Given the description of an element on the screen output the (x, y) to click on. 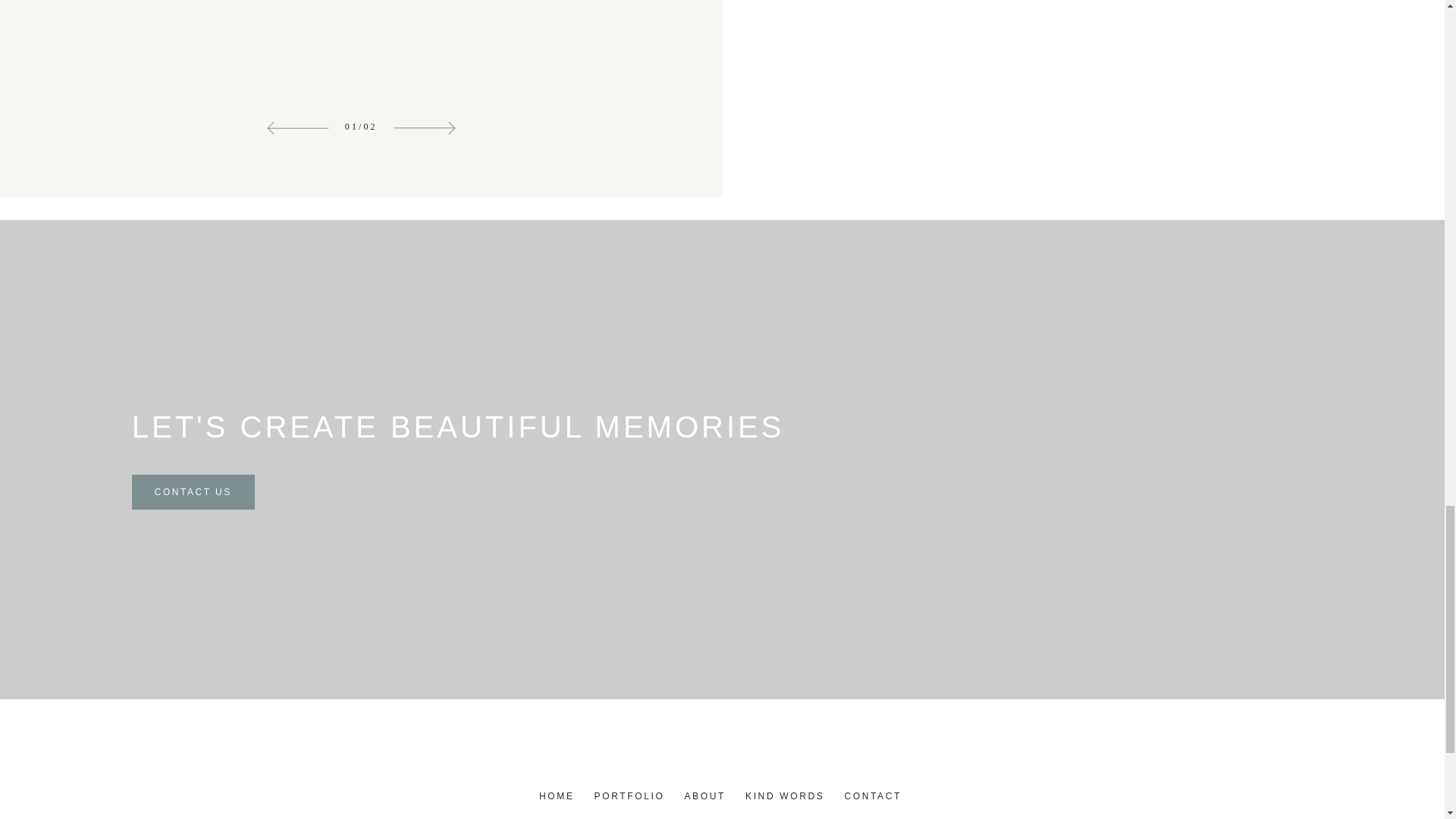
CONTACT (872, 796)
KIND WORDS (784, 796)
ABOUT (705, 796)
PORTFOLIO (629, 796)
HOME (556, 796)
CONTACT US (193, 492)
